Given the description of an element on the screen output the (x, y) to click on. 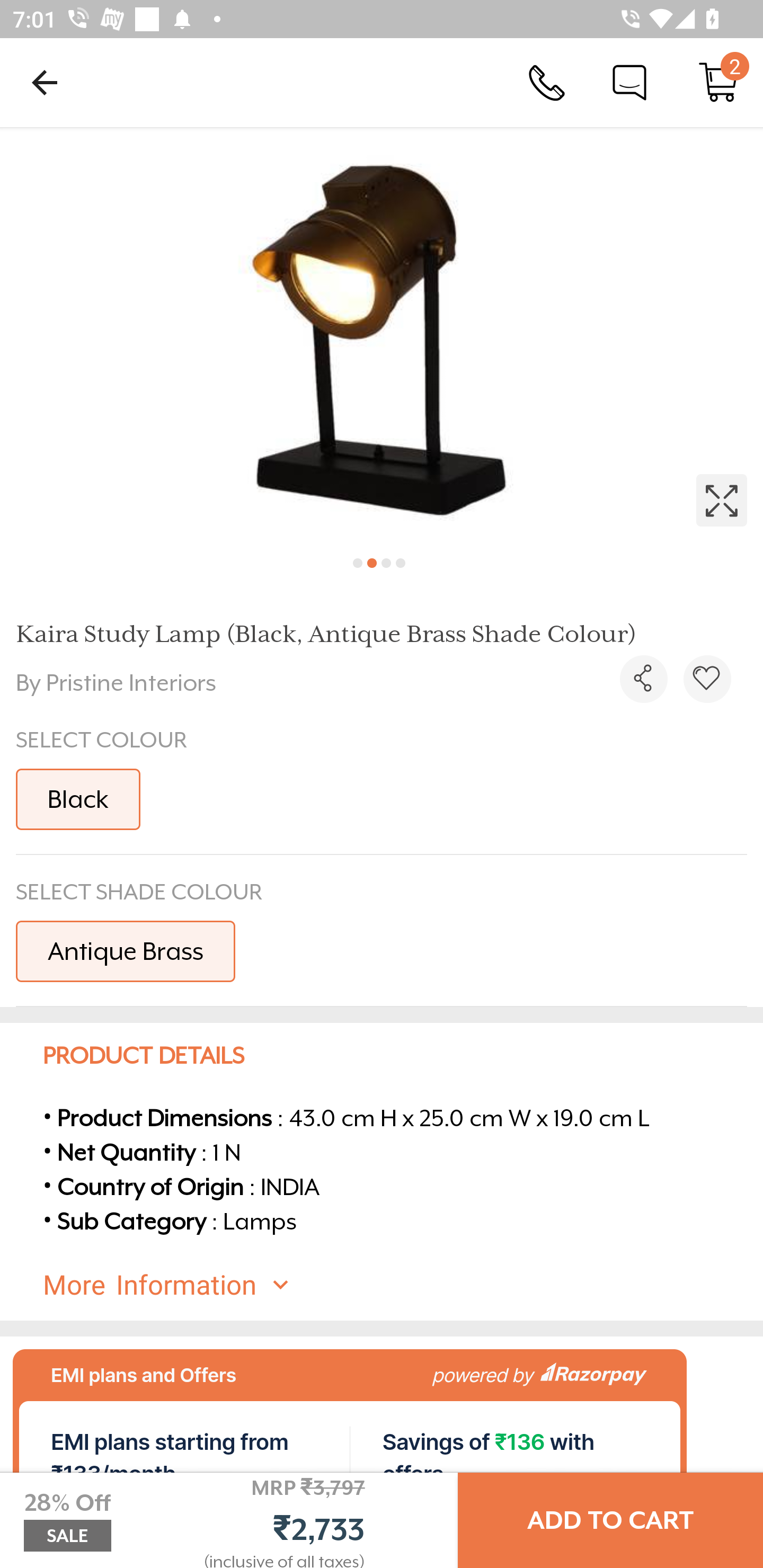
Navigate up (44, 82)
Call Us (546, 81)
Chat (629, 81)
Cart (718, 81)
 (381, 334)
 (643, 678)
 (706, 678)
Black (78, 798)
Antique Brass (125, 950)
More Information  (396, 1284)
ADD TO CART (610, 1520)
